Given the description of an element on the screen output the (x, y) to click on. 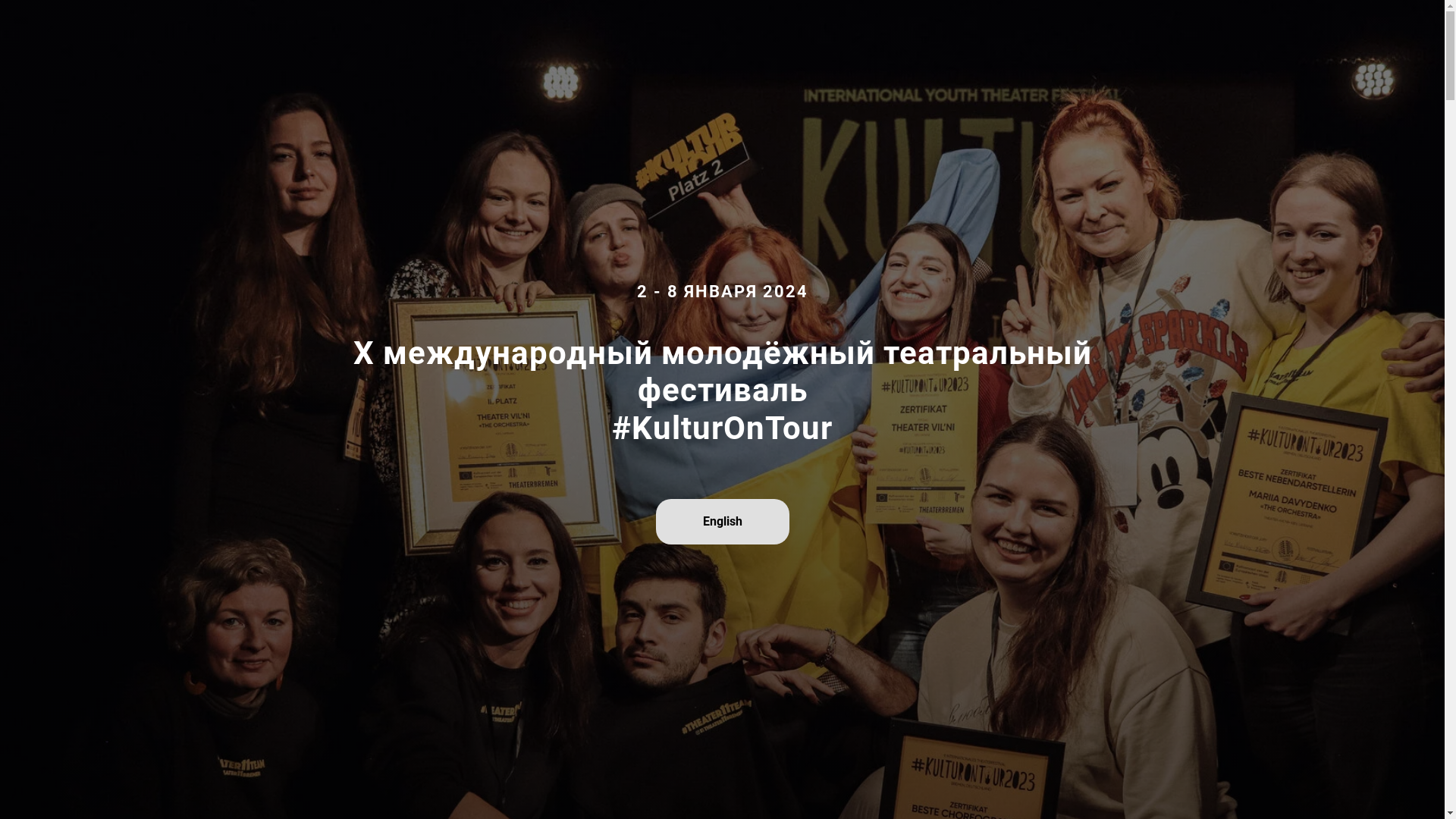
English Element type: text (721, 521)
